Given the description of an element on the screen output the (x, y) to click on. 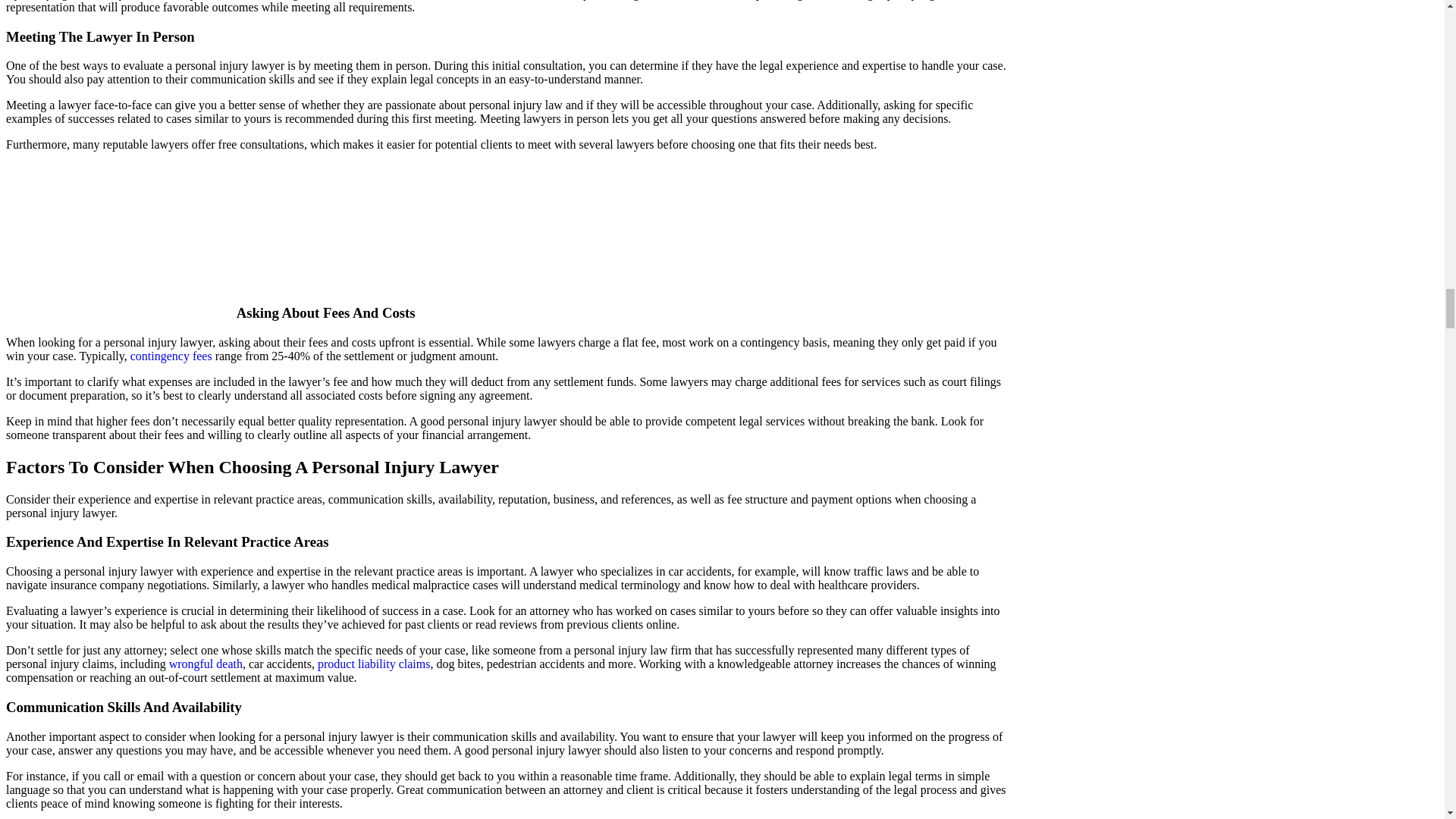
wrongful death (205, 663)
product liability claims (373, 663)
contingency fees (171, 355)
